Given the description of an element on the screen output the (x, y) to click on. 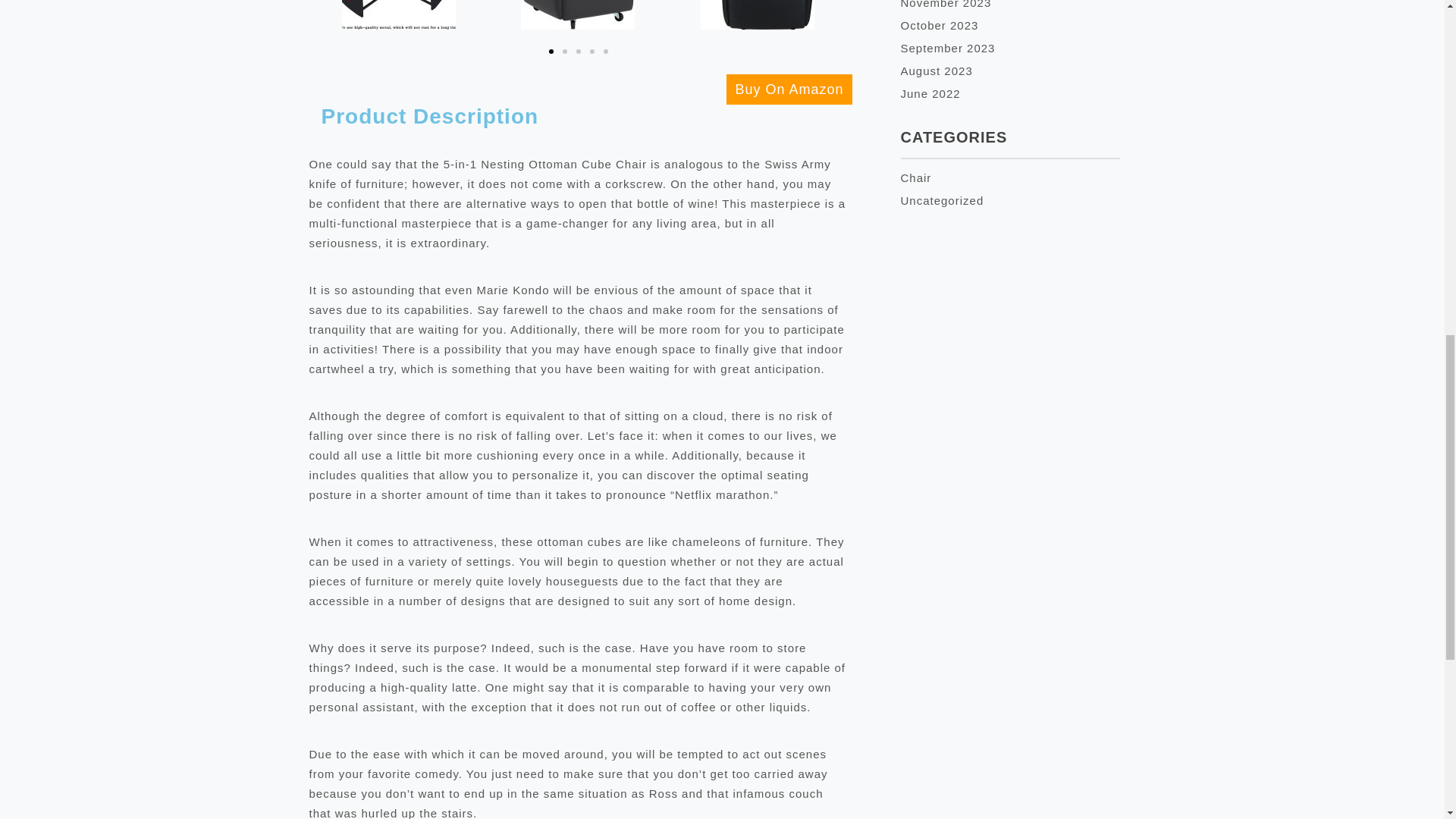
November 2023 (946, 4)
September 2023 (948, 47)
October 2023 (939, 24)
June 2022 (930, 92)
August 2023 (936, 70)
Uncategorized (942, 200)
Buy On Amazon (788, 89)
Chair (916, 177)
